Given the description of an element on the screen output the (x, y) to click on. 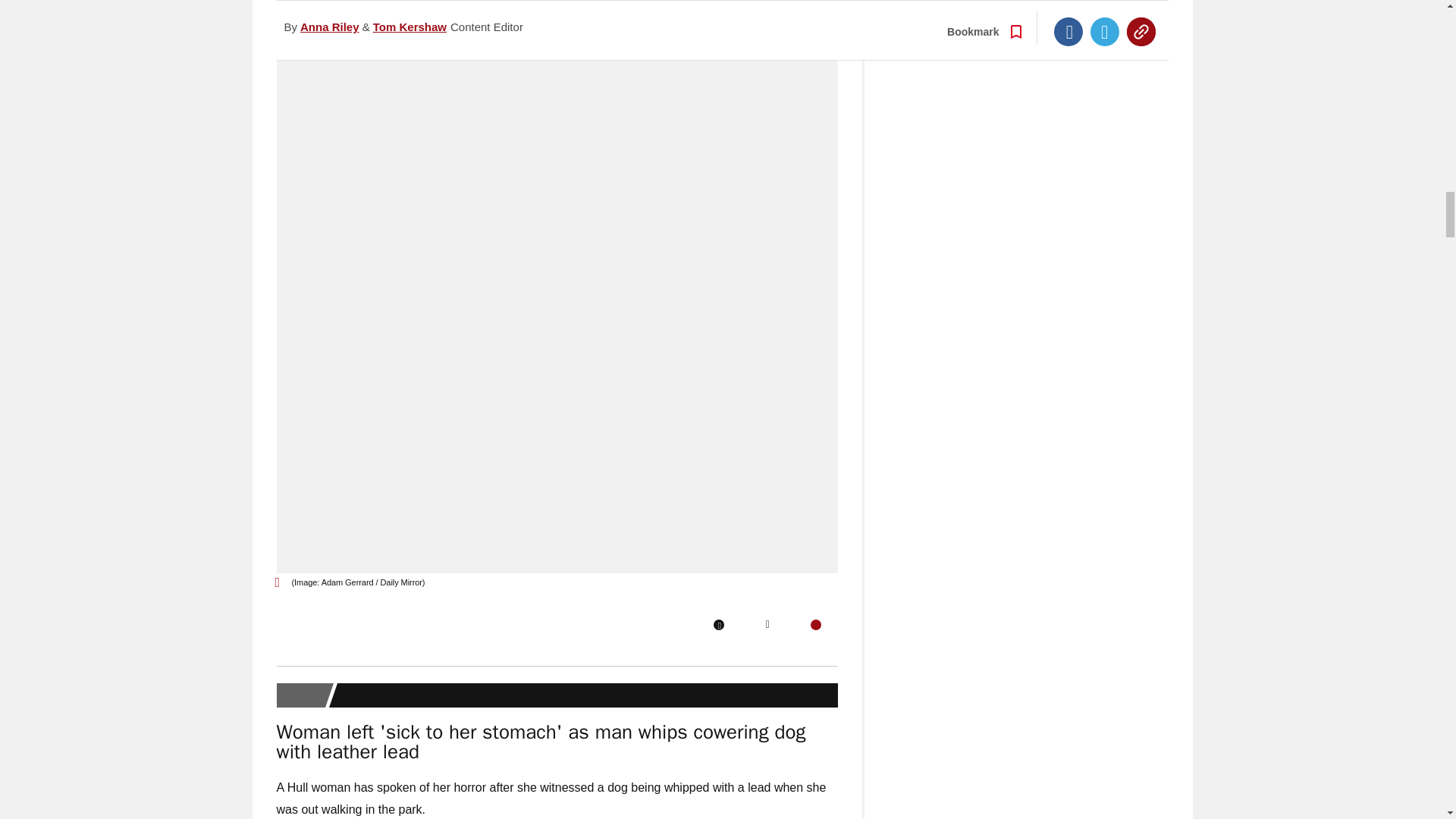
Twitter (767, 624)
Facebook (718, 624)
